Given the description of an element on the screen output the (x, y) to click on. 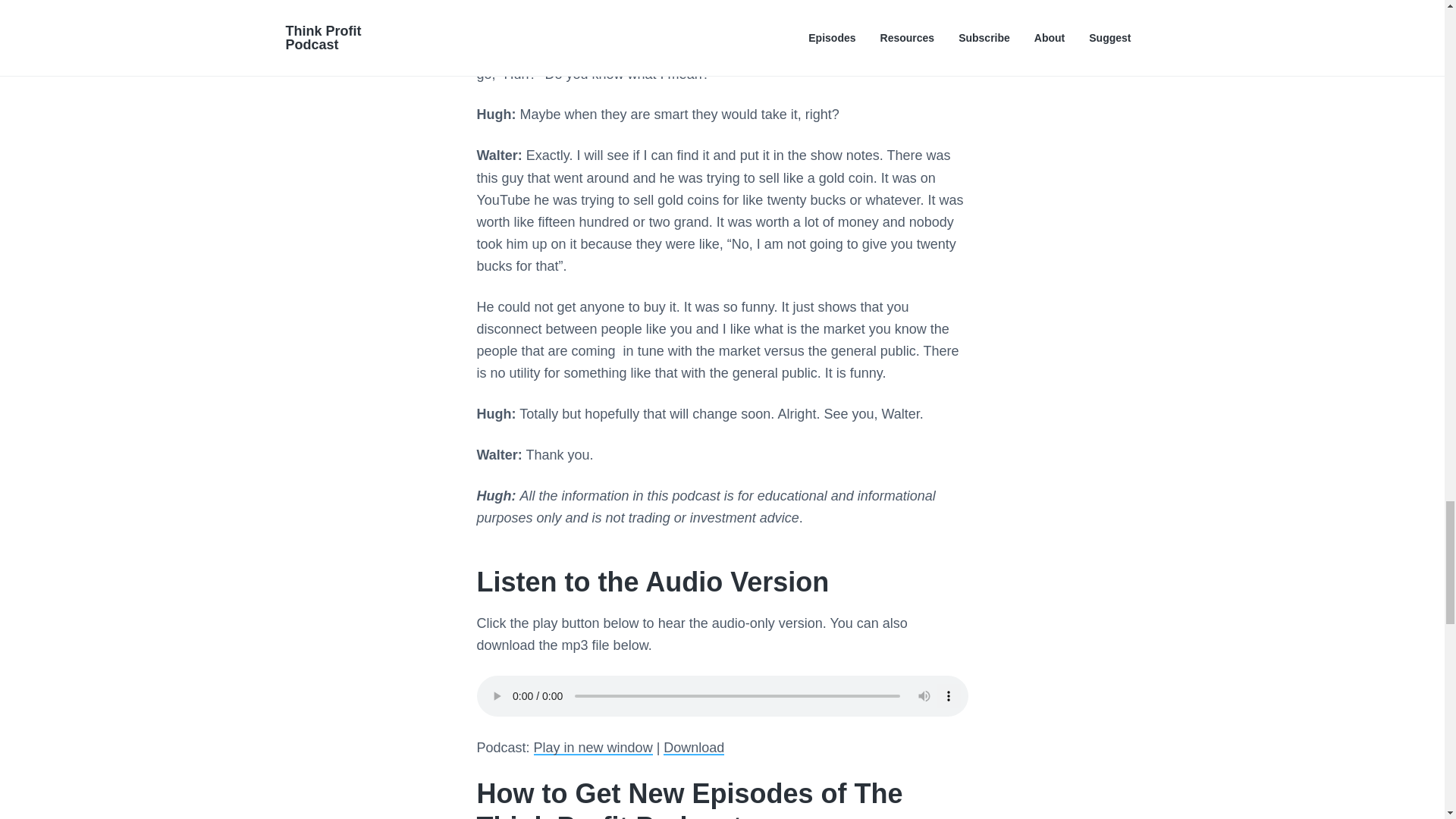
Play in new window (593, 747)
Download (693, 747)
Play in new window (593, 747)
Download (693, 747)
